Given the description of an element on the screen output the (x, y) to click on. 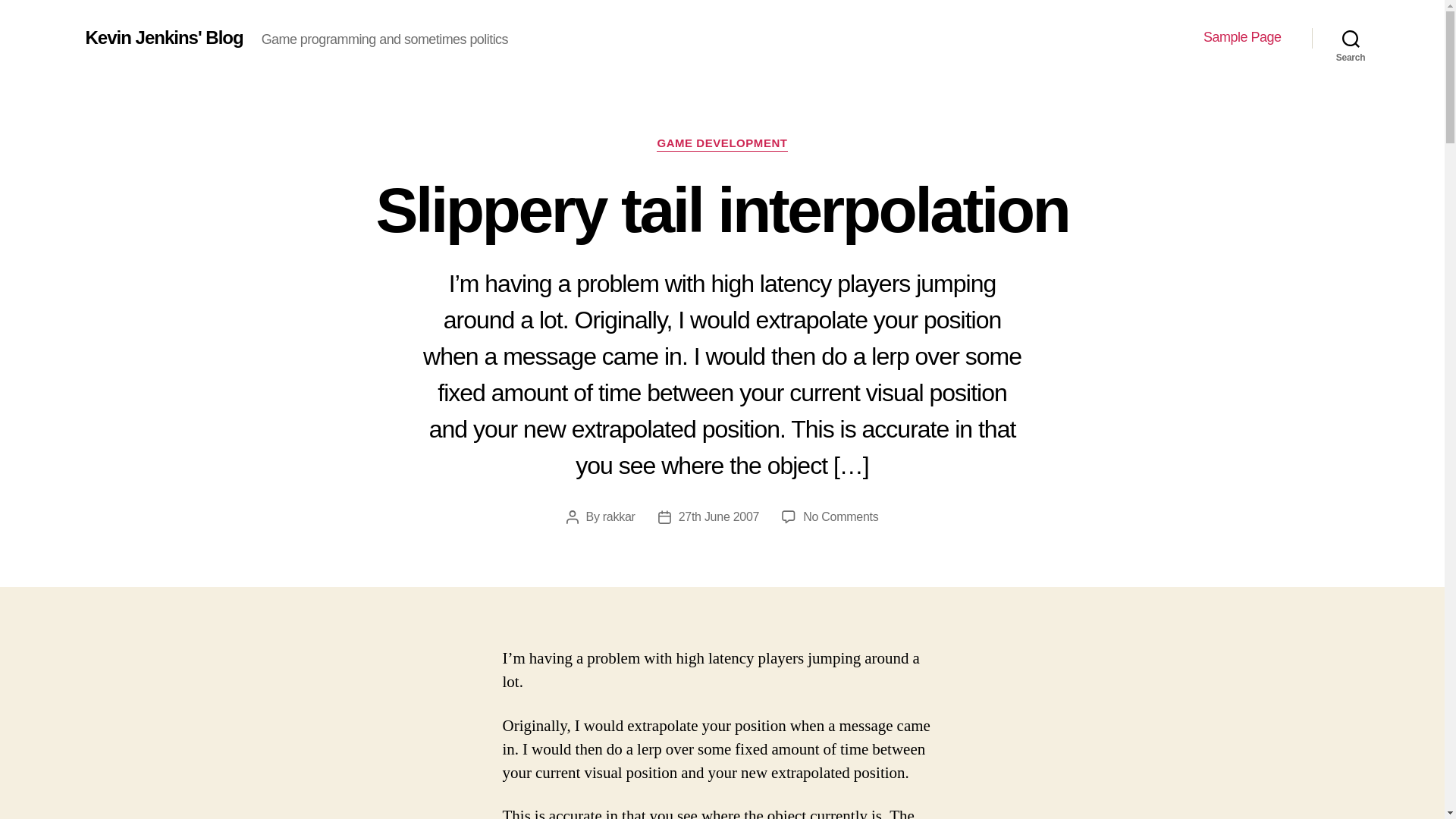
GAME DEVELOPMENT (721, 143)
Sample Page (1242, 37)
Search (840, 516)
rakkar (1350, 37)
27th June 2007 (618, 516)
Kevin Jenkins' Blog (719, 516)
